Given the description of an element on the screen output the (x, y) to click on. 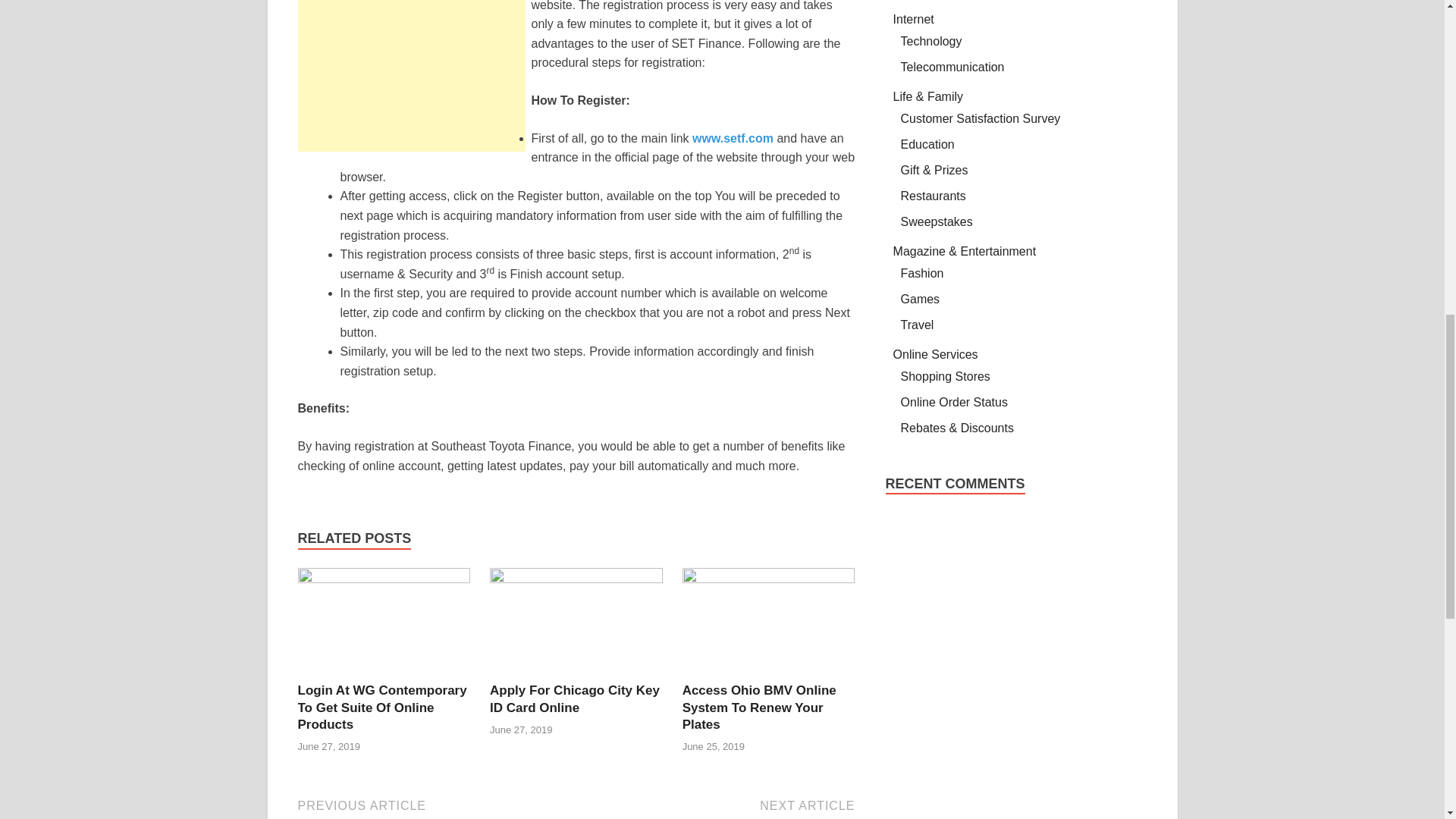
Login At WG Contemporary To Get Suite Of Online Products (381, 707)
Apply For Chicago City Key ID Card Online (574, 698)
Apply For Chicago City Key ID Card Online (575, 578)
Access Ohio BMV Online System To Renew Your Plates (717, 807)
Login At WG Contemporary To Get Suite Of Online Products (758, 707)
www.setf.com (381, 707)
Login At WG Contemporary To Get Suite Of Online Products (733, 137)
Access Ohio BMV Online System To Renew Your Plates (383, 578)
Apply For Chicago City Key ID Card Online (769, 578)
Access Ohio BMV Online System To Renew Your Plates (574, 698)
